Given the description of an element on the screen output the (x, y) to click on. 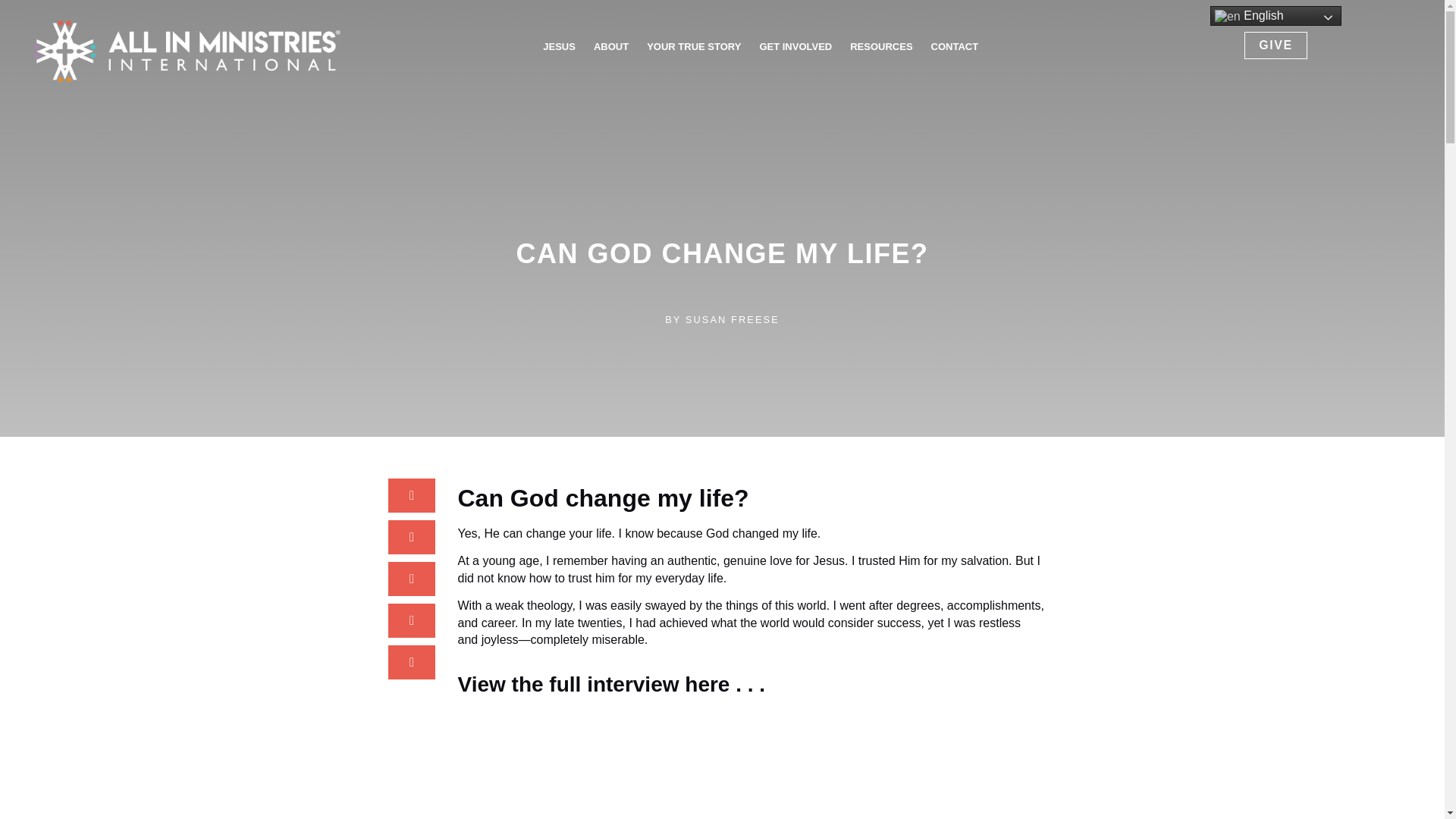
RESOURCES (881, 46)
YOUR TRUE STORY (693, 46)
CONTACT (954, 46)
ABOUT (611, 46)
English (1274, 15)
GET INVOLVED (794, 46)
JESUS (559, 46)
